Given the description of an element on the screen output the (x, y) to click on. 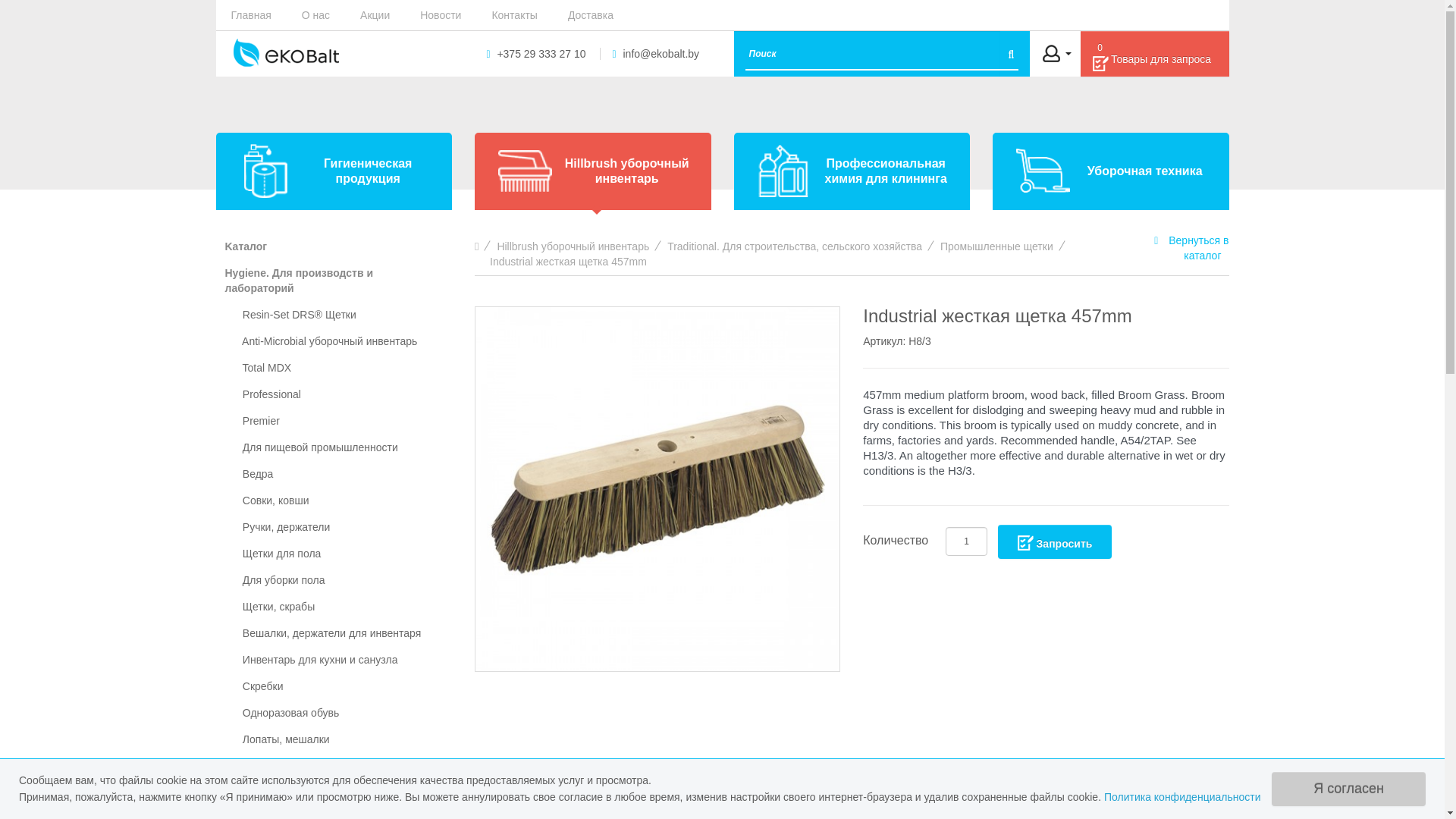
1 (965, 541)
Ekobalt (285, 52)
